Given the description of an element on the screen output the (x, y) to click on. 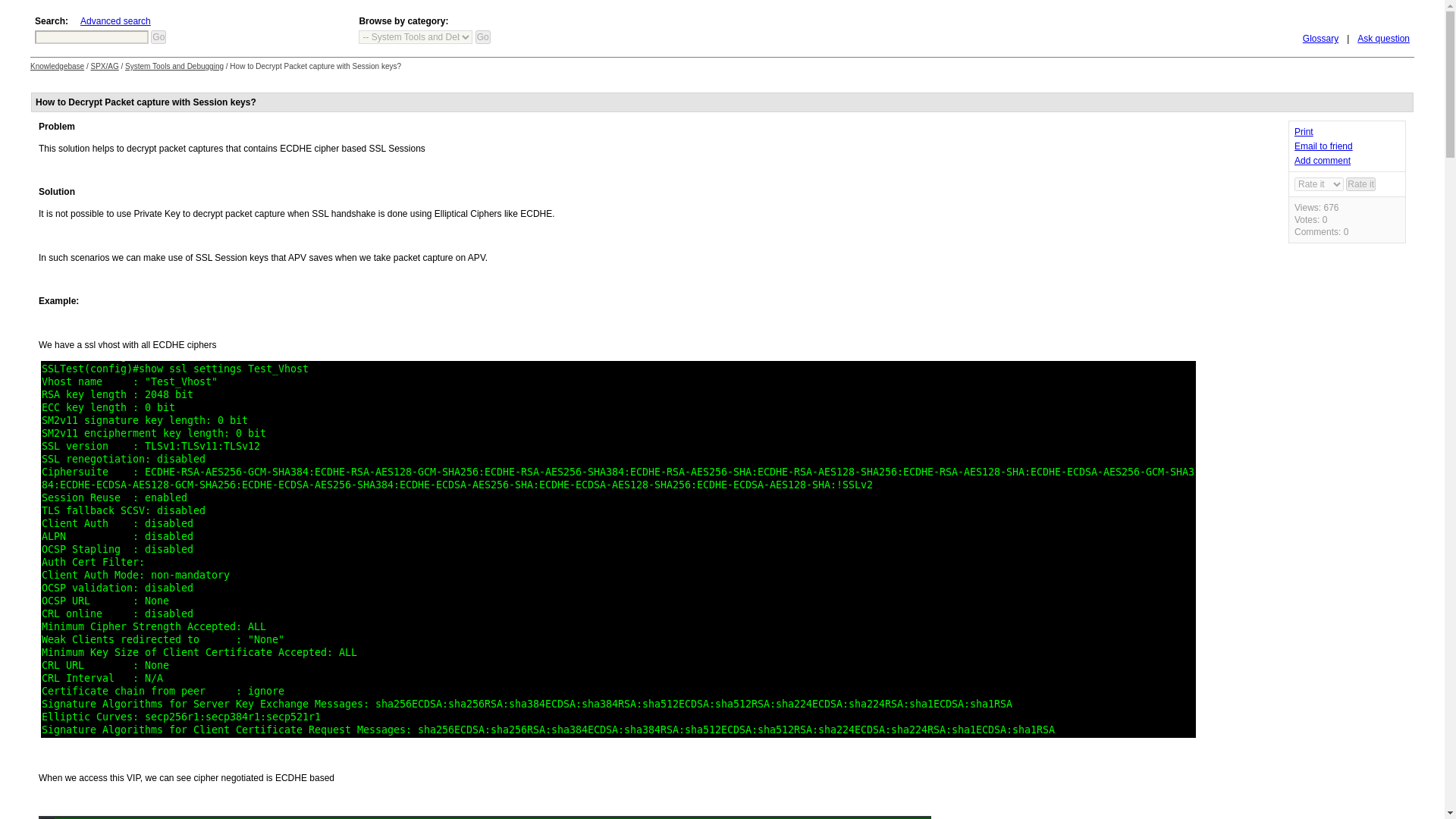
System Tools and Debugging (174, 66)
Ask question (1382, 38)
Rate it (1360, 183)
Go (483, 37)
Go (483, 37)
Go (158, 37)
Glossary (1320, 38)
Email to friend (1323, 145)
Advanced search (115, 20)
Print (1303, 131)
